Given the description of an element on the screen output the (x, y) to click on. 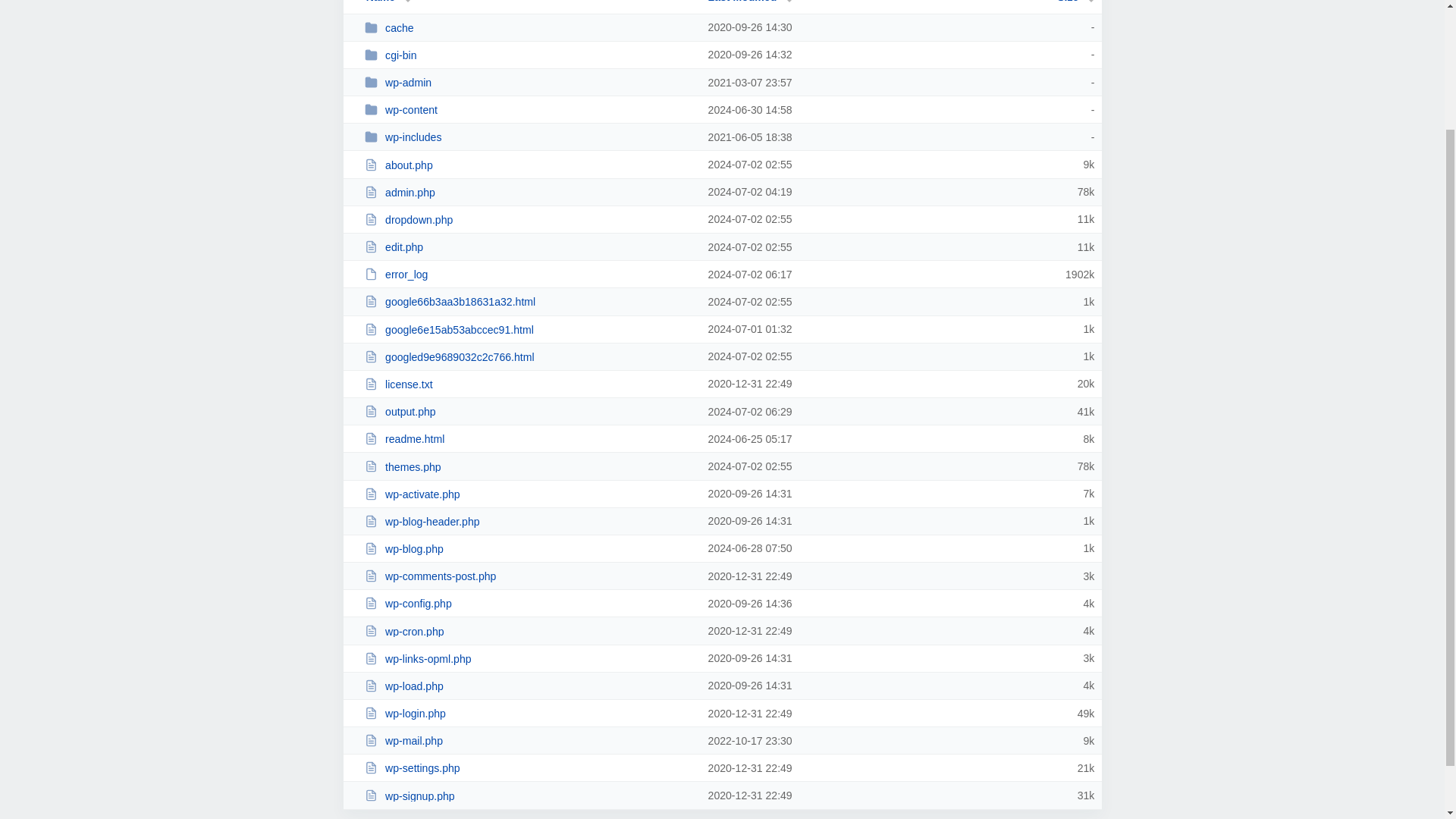
wp-blog.php (529, 548)
about.php (529, 164)
wp-cron.php (529, 631)
google66b3aa3b18631a32.html (529, 300)
googled9e9689032c2c766.html (529, 356)
Size (1075, 1)
admin.php (529, 192)
wp-load.php (529, 685)
wp-signup.php (529, 795)
wp-blog-header.php (529, 521)
Last Modified (750, 1)
wp-activate.php (529, 493)
Name (380, 1)
google6e15ab53abccec91.html (529, 328)
wp-settings.php (529, 767)
